Given the description of an element on the screen output the (x, y) to click on. 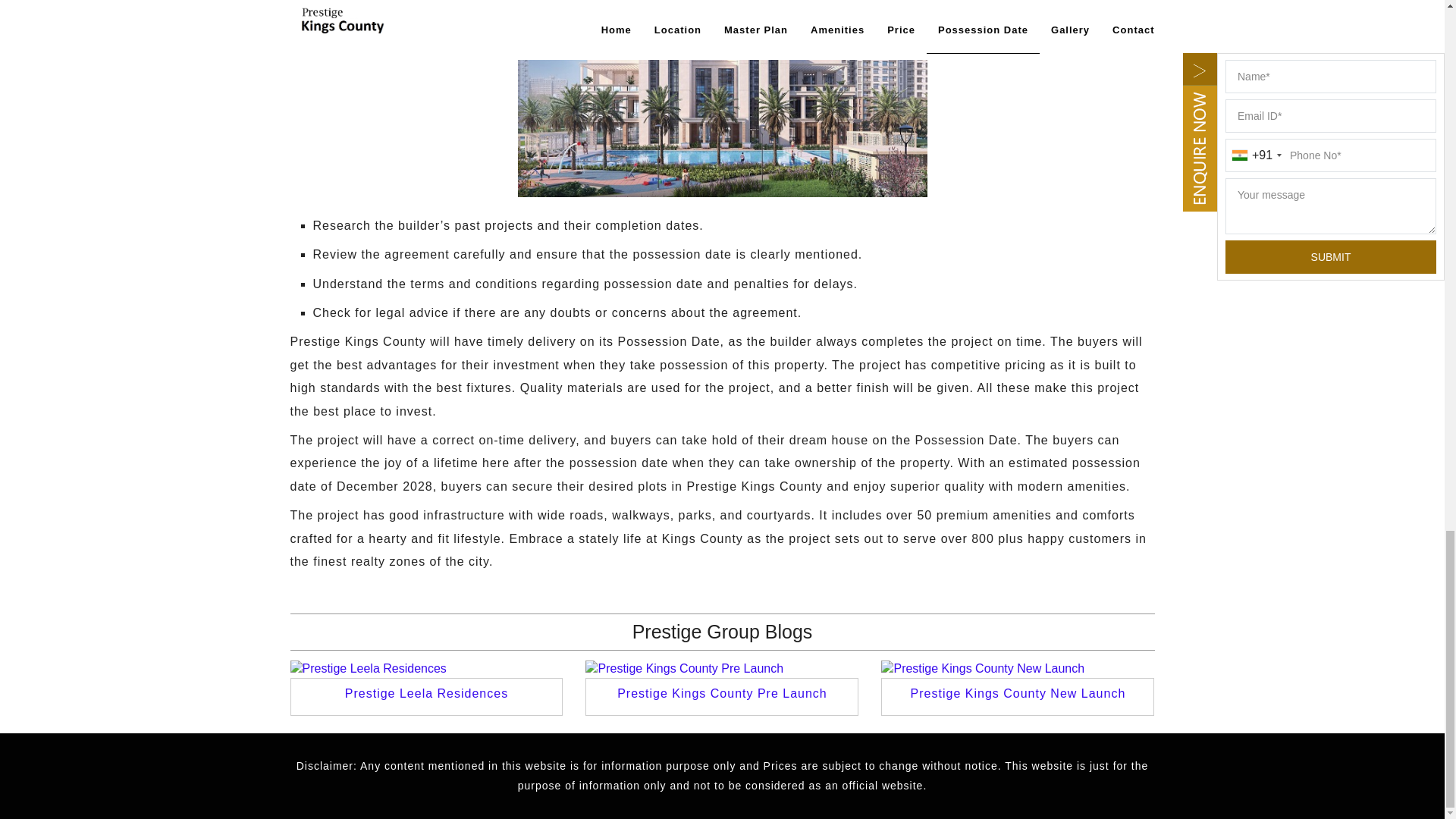
Prestige Leela Residences (425, 669)
Things to consider Regarding the Possession Date (721, 98)
Prestige Kings County Pre Launch (722, 693)
Prestige Leela Residences (426, 693)
Prestige Kings County New Launch (1018, 693)
Prestige Leela Residences (426, 693)
